Given the description of an element on the screen output the (x, y) to click on. 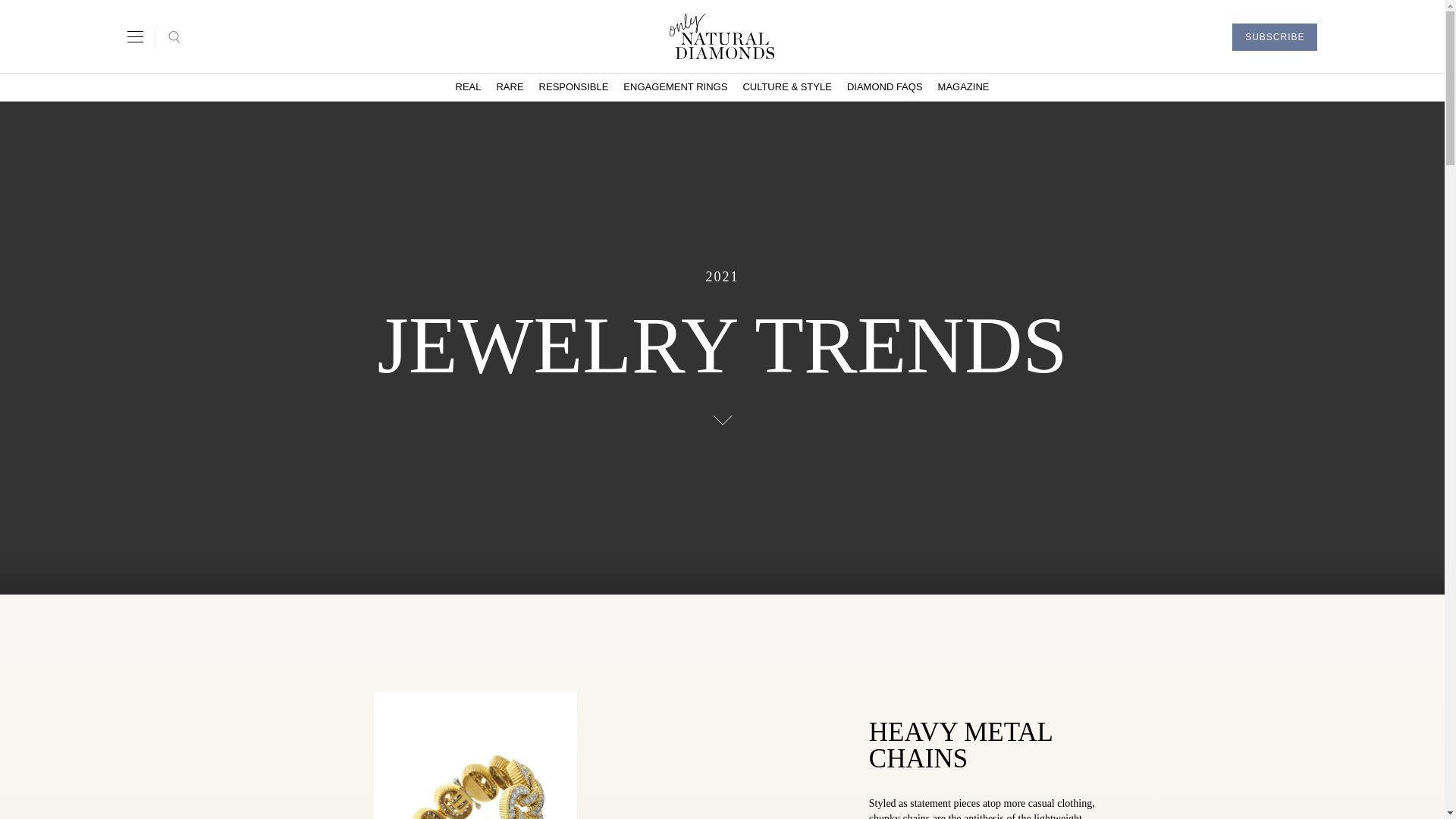
SUBSCRIBE (1274, 35)
ENGAGEMENT RINGS (675, 86)
RARE (509, 86)
Page 4 (992, 807)
MAGAZINE (963, 86)
DIAMOND FAQS (885, 86)
REAL (466, 86)
RESPONSIBLE (573, 86)
